Given the description of an element on the screen output the (x, y) to click on. 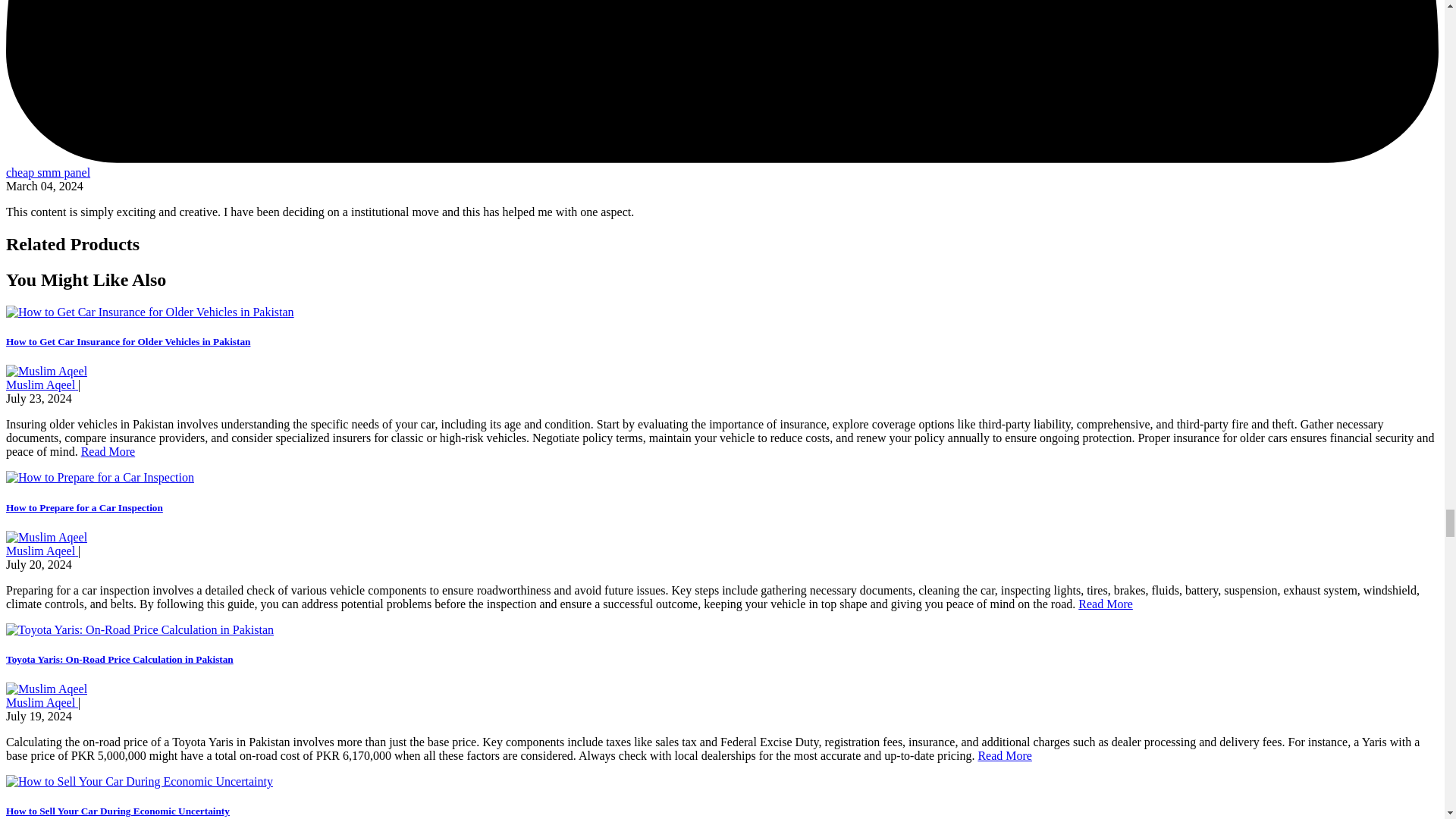
How to Get Car Insurance for Older Vehicles in Pakistan (127, 341)
How to Sell Your Car During Economic Uncertainty (117, 810)
Toyota Yaris: On-Road Price Calculation in Pakistan (118, 659)
How to Prepare for a Car Inspection (84, 507)
Read More (1105, 603)
Read More (108, 451)
Read More (1004, 755)
